Given the description of an element on the screen output the (x, y) to click on. 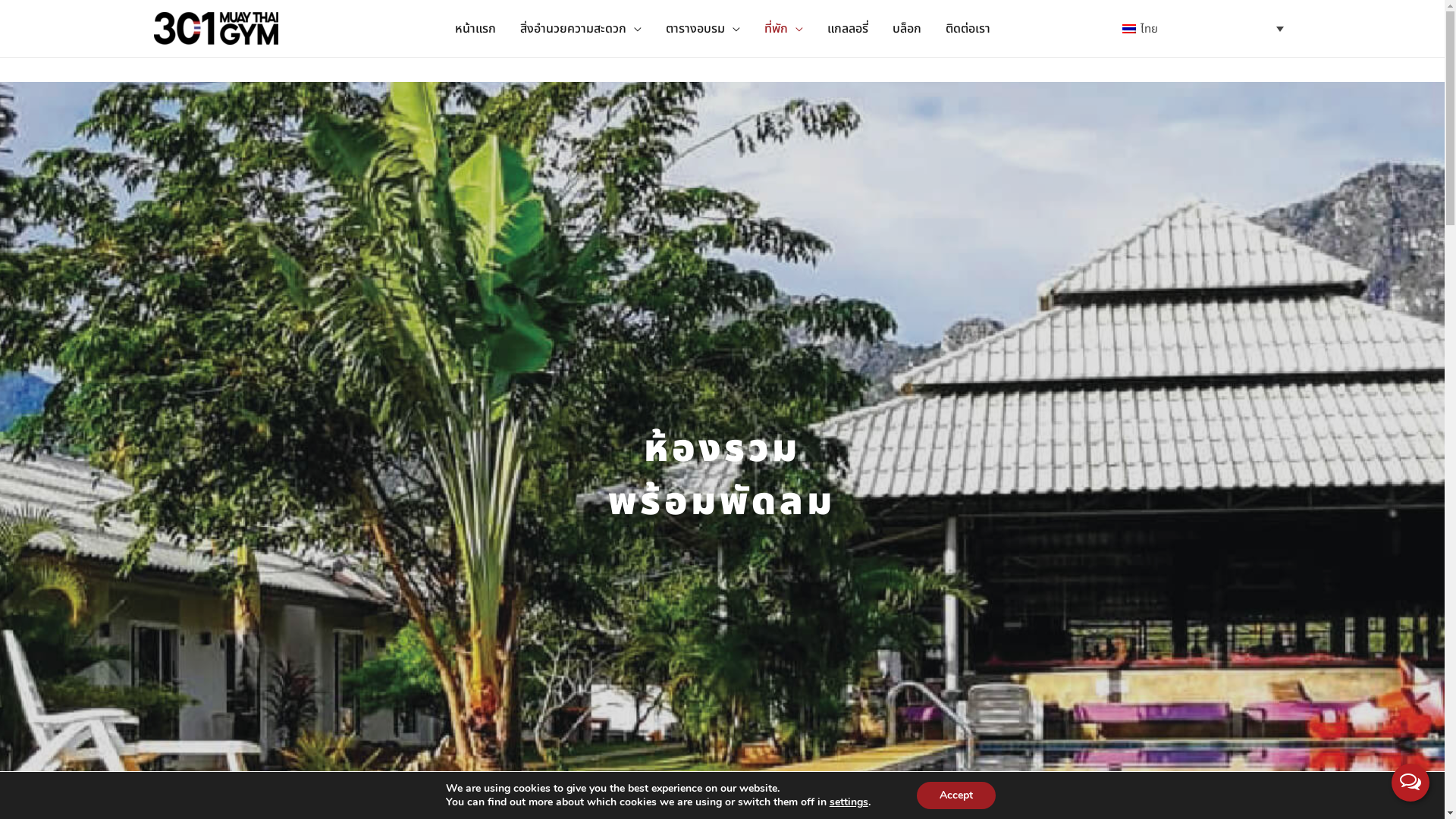
settings Element type: text (848, 802)
Accept Element type: text (955, 795)
